Given the description of an element on the screen output the (x, y) to click on. 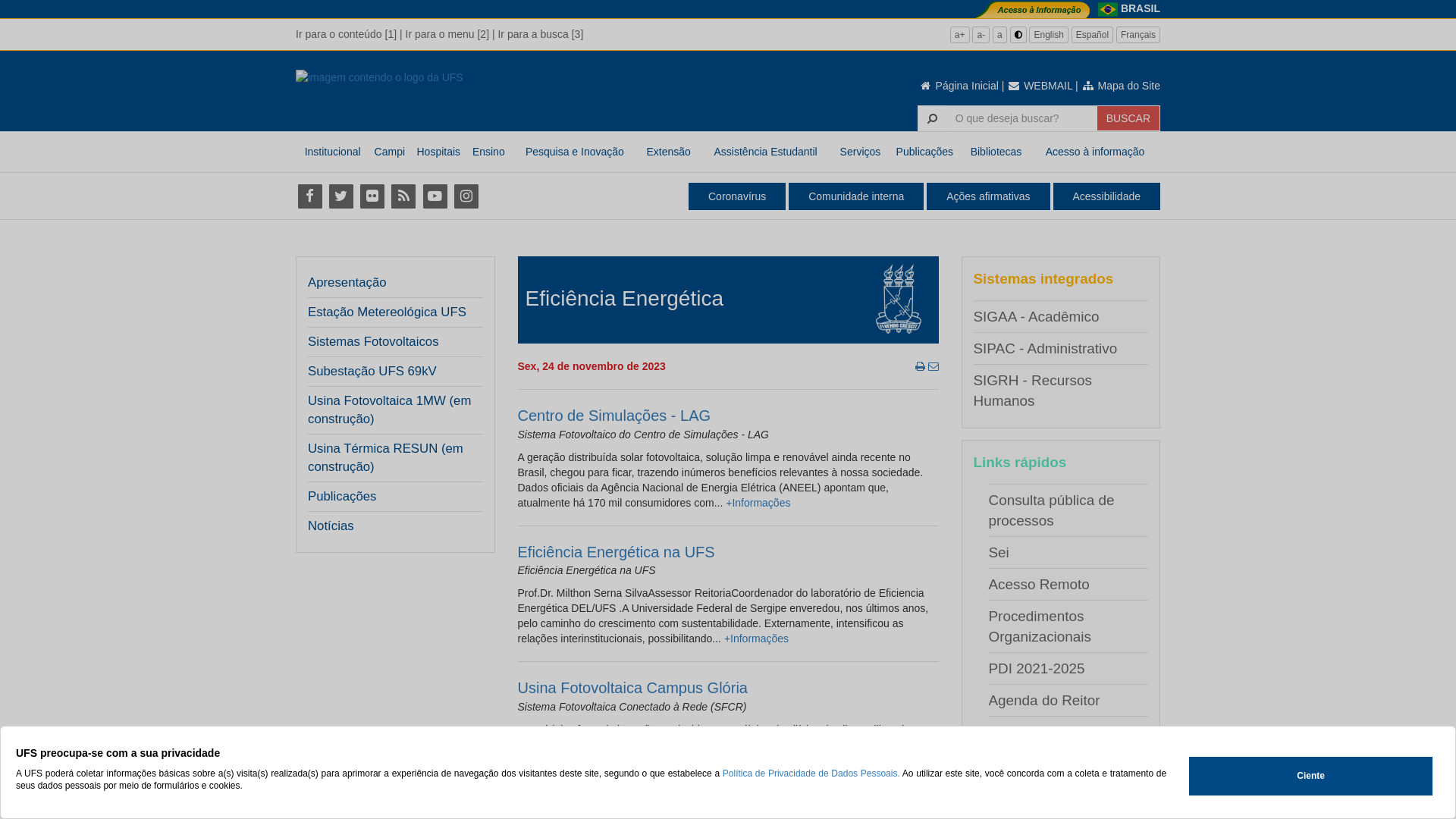
Ir para a busca [3] Element type: text (540, 34)
Institucional Element type: text (332, 151)
BUSCAR Element type: text (1128, 118)
SIPAC - Administrativo Element type: text (1045, 348)
Mapa do Site Element type: text (1120, 85)
Ir para o menu [2] Element type: text (447, 34)
Ensino Element type: text (488, 151)
Telefones Element type: text (1019, 763)
Sei Element type: text (998, 552)
Youtube Element type: text (434, 196)
a Element type: text (999, 34)
SIGRH - Recursos Humanos Element type: text (1032, 390)
PDI 2021-2025 Element type: text (1036, 668)
Instagram Element type: text (465, 196)
Sistemas Fotovoltaicos Element type: text (390, 341)
Bibliotecas Element type: text (995, 151)
Campi Element type: text (389, 151)
WEBMAIL Element type: text (1039, 85)
RSS Element type: text (403, 196)
Comunidade interna Element type: text (855, 196)
Procedimentos Organizacionais Element type: text (1039, 626)
Hospitais Element type: text (438, 151)
Agenda do Reitor Element type: text (1044, 700)
Twitter Element type: text (340, 196)
English Element type: text (1048, 34)
Agenda do Vice-Reitor Element type: text (1060, 732)
Flickr Element type: text (371, 196)
Facebook Element type: text (309, 196)
Acesso Remoto Element type: text (1038, 584)
BRASIL Element type: text (1140, 8)
Acessibilidade Element type: text (1106, 196)
a+ Element type: text (959, 34)
Editais Element type: text (1010, 795)
a- Element type: text (980, 34)
